Given the description of an element on the screen output the (x, y) to click on. 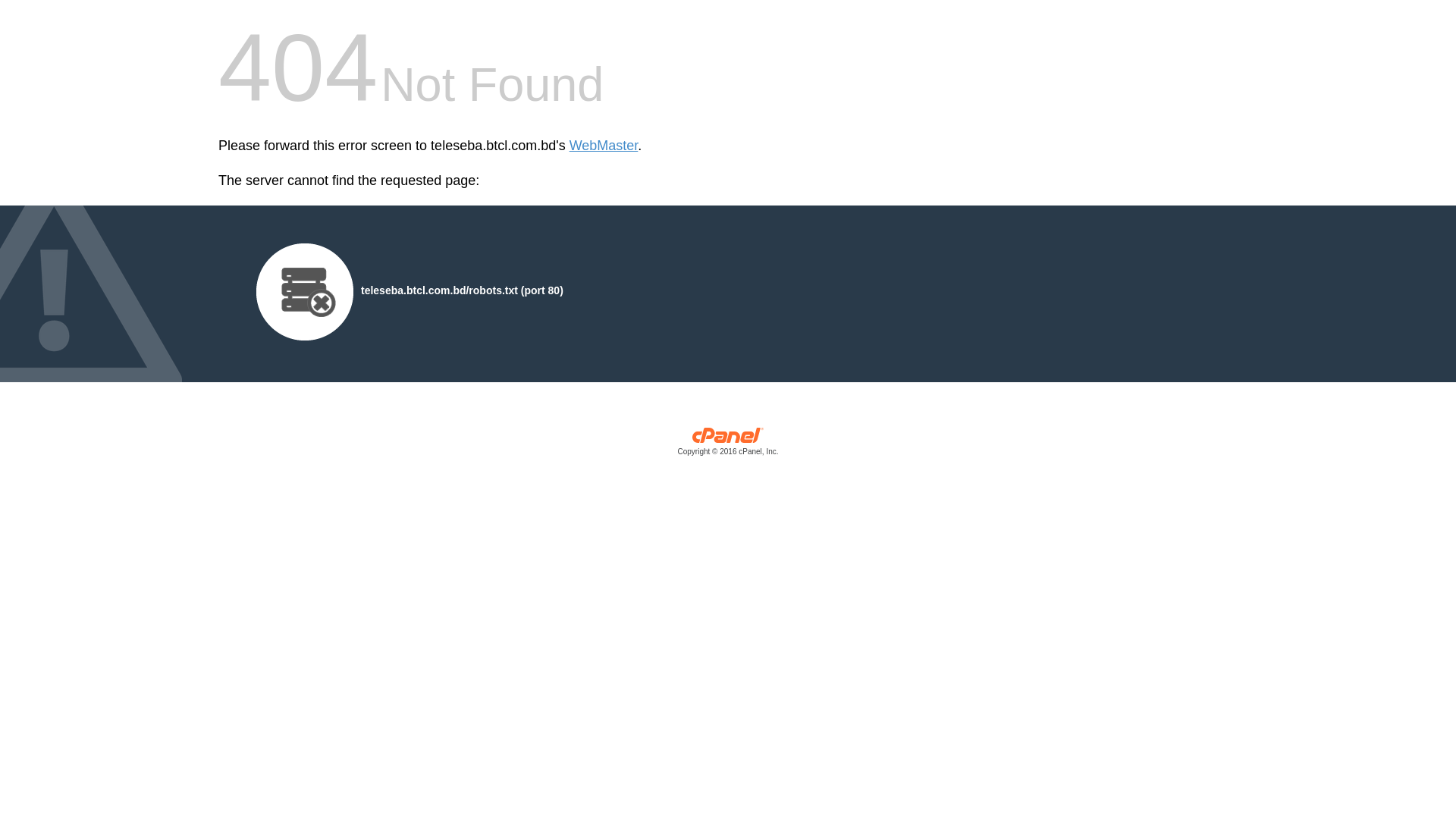
WebMaster Element type: text (603, 145)
